Given the description of an element on the screen output the (x, y) to click on. 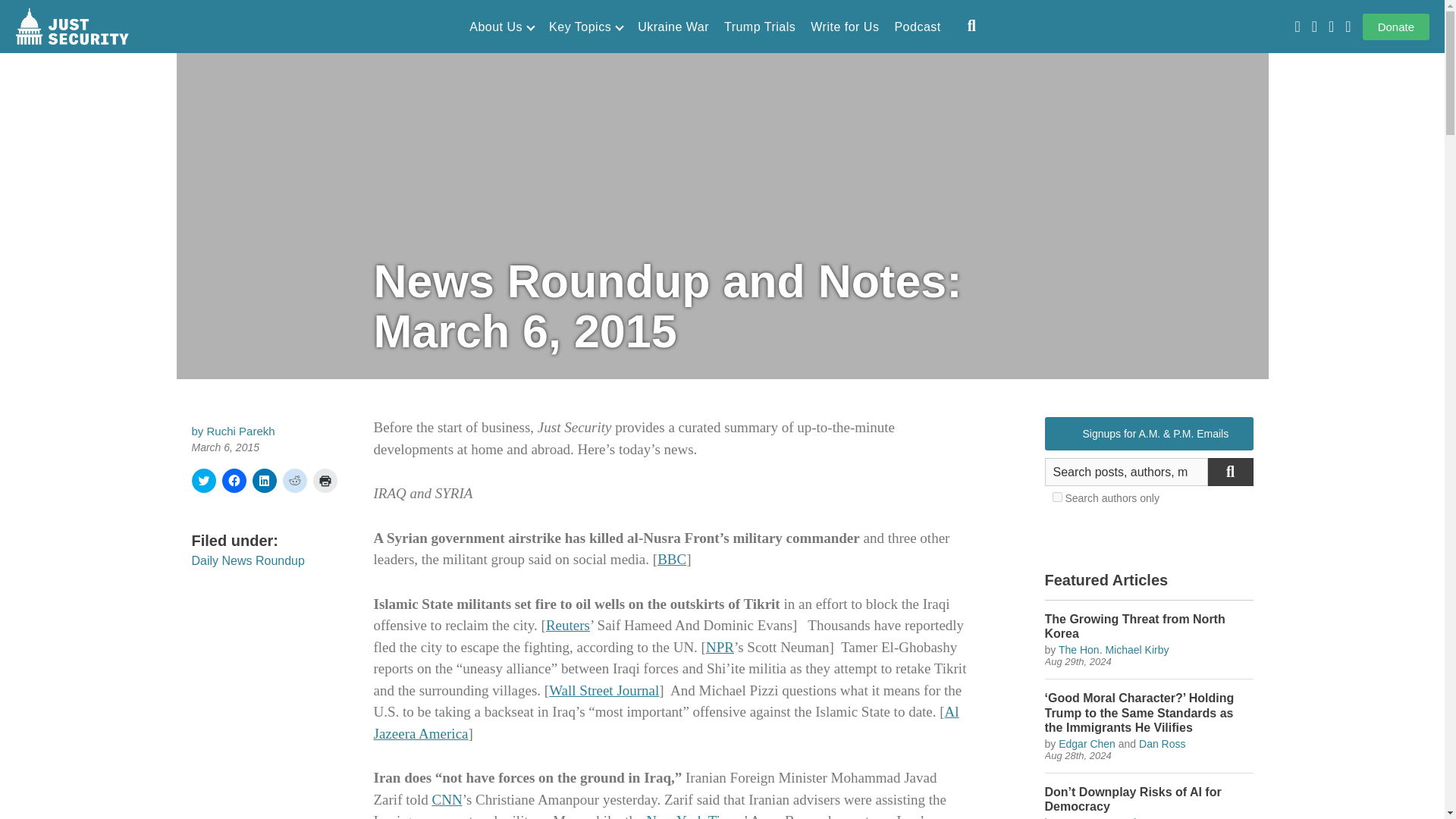
Donate (1395, 26)
Click to share on Reddit (293, 480)
Click to share on Facebook (233, 480)
Write for Us (844, 27)
Profile and articles by Suzanne Nossel (1096, 817)
Search for: (1126, 471)
Profile and articles by Edgar Chen (1086, 743)
Key Topics (585, 27)
Click to print (324, 480)
Click to share on LinkedIn (263, 480)
